Given the description of an element on the screen output the (x, y) to click on. 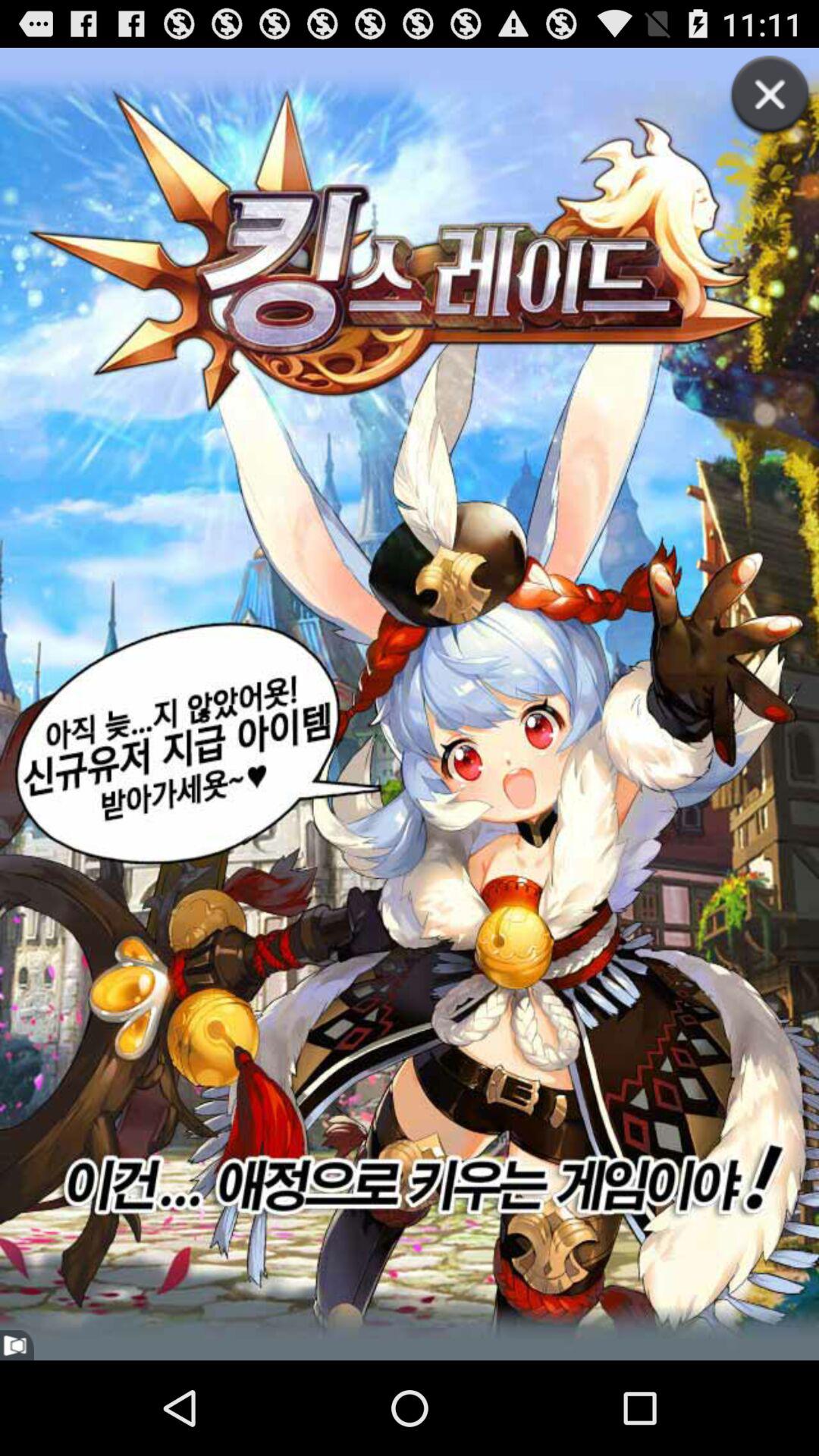
choose the icon at the top right corner (753, 112)
